Given the description of an element on the screen output the (x, y) to click on. 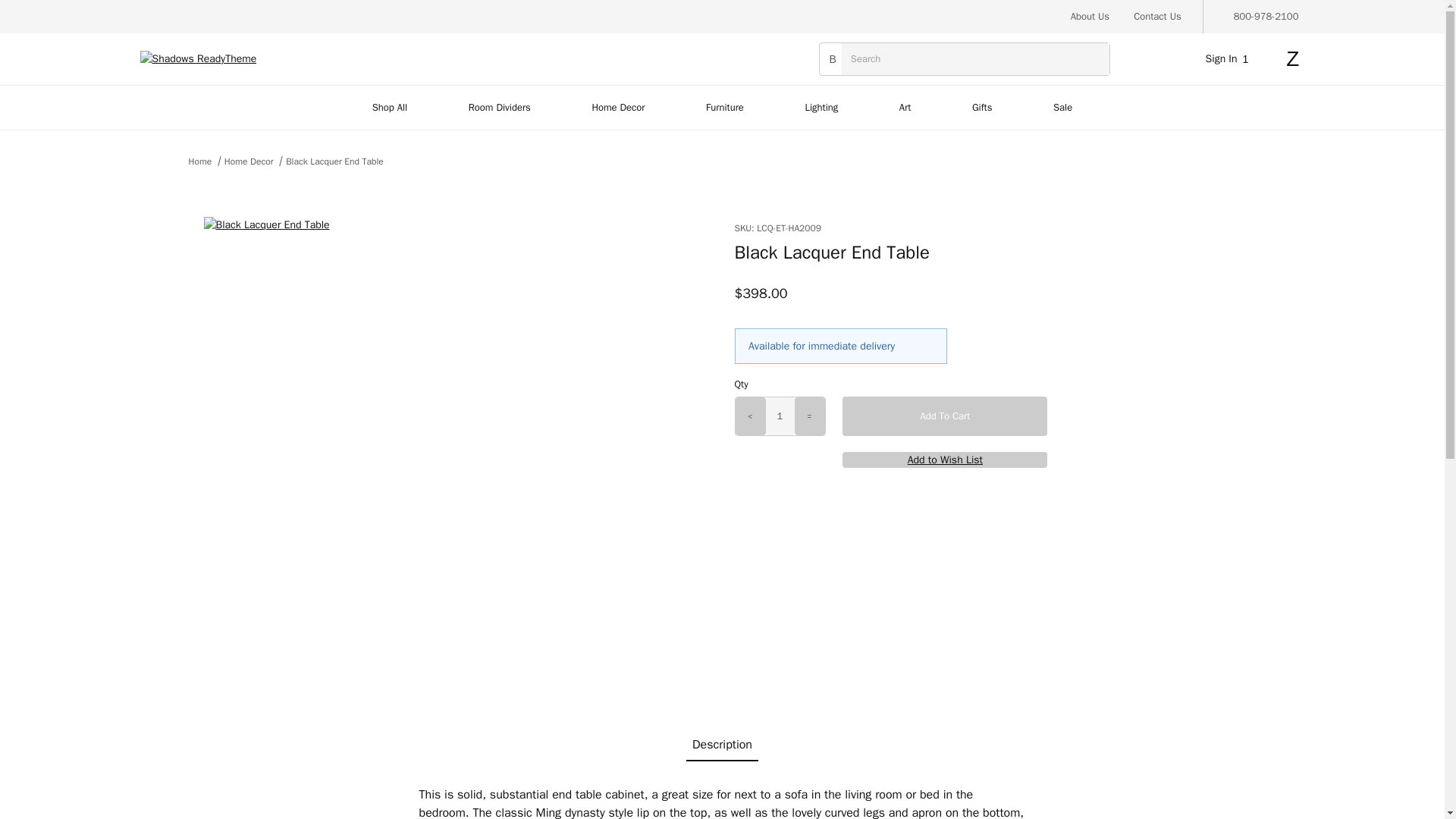
About Us (1089, 16)
Black Lacquer End Table (334, 161)
Add To Cart (944, 415)
Lighting (821, 107)
Art (905, 107)
Gifts (982, 107)
Sale (1063, 107)
Shop All (388, 107)
Home (199, 161)
Room Dividers (499, 107)
